Given the description of an element on the screen output the (x, y) to click on. 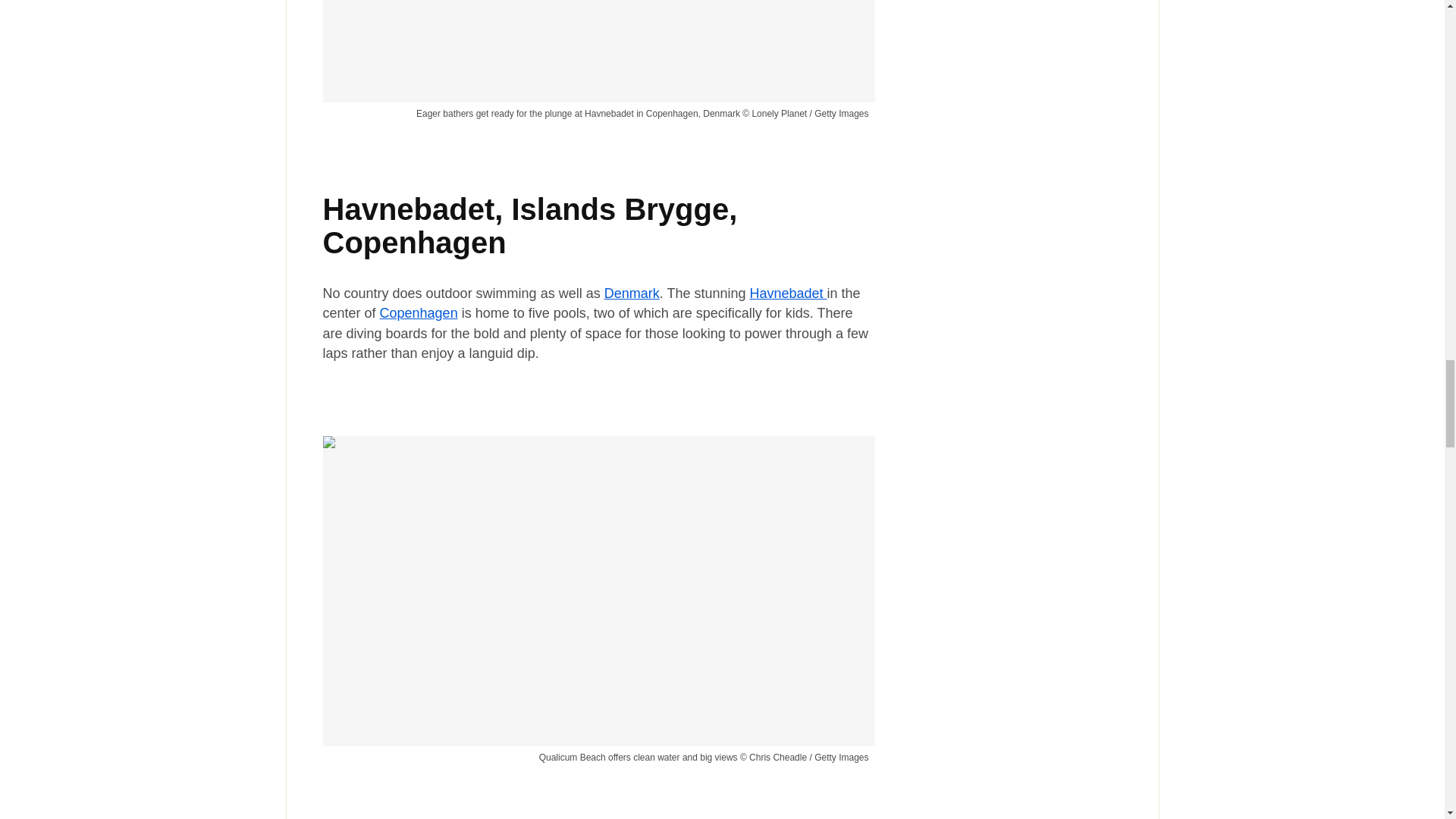
Havnebadet (788, 293)
Copenhagen (419, 313)
Denmark (631, 293)
